Given the description of an element on the screen output the (x, y) to click on. 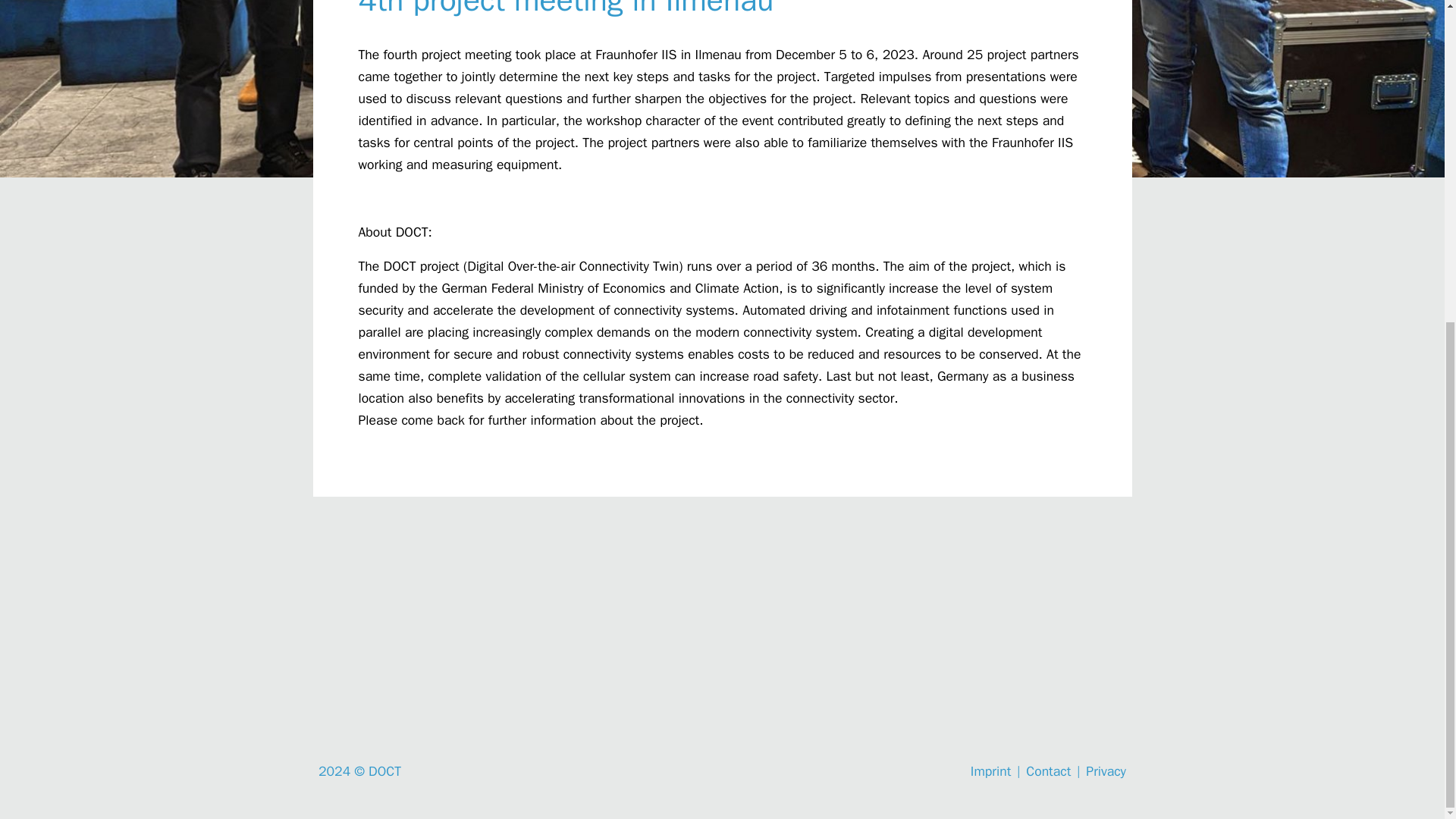
Imprint (990, 770)
Contact (1048, 770)
Privacy (1105, 770)
